Given the description of an element on the screen output the (x, y) to click on. 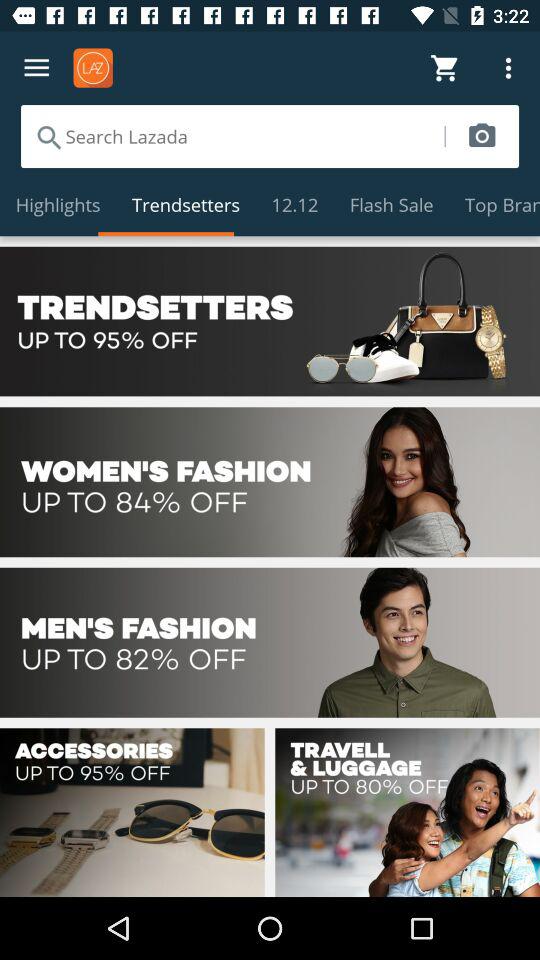
toggle drop down menu (36, 68)
